Given the description of an element on the screen output the (x, y) to click on. 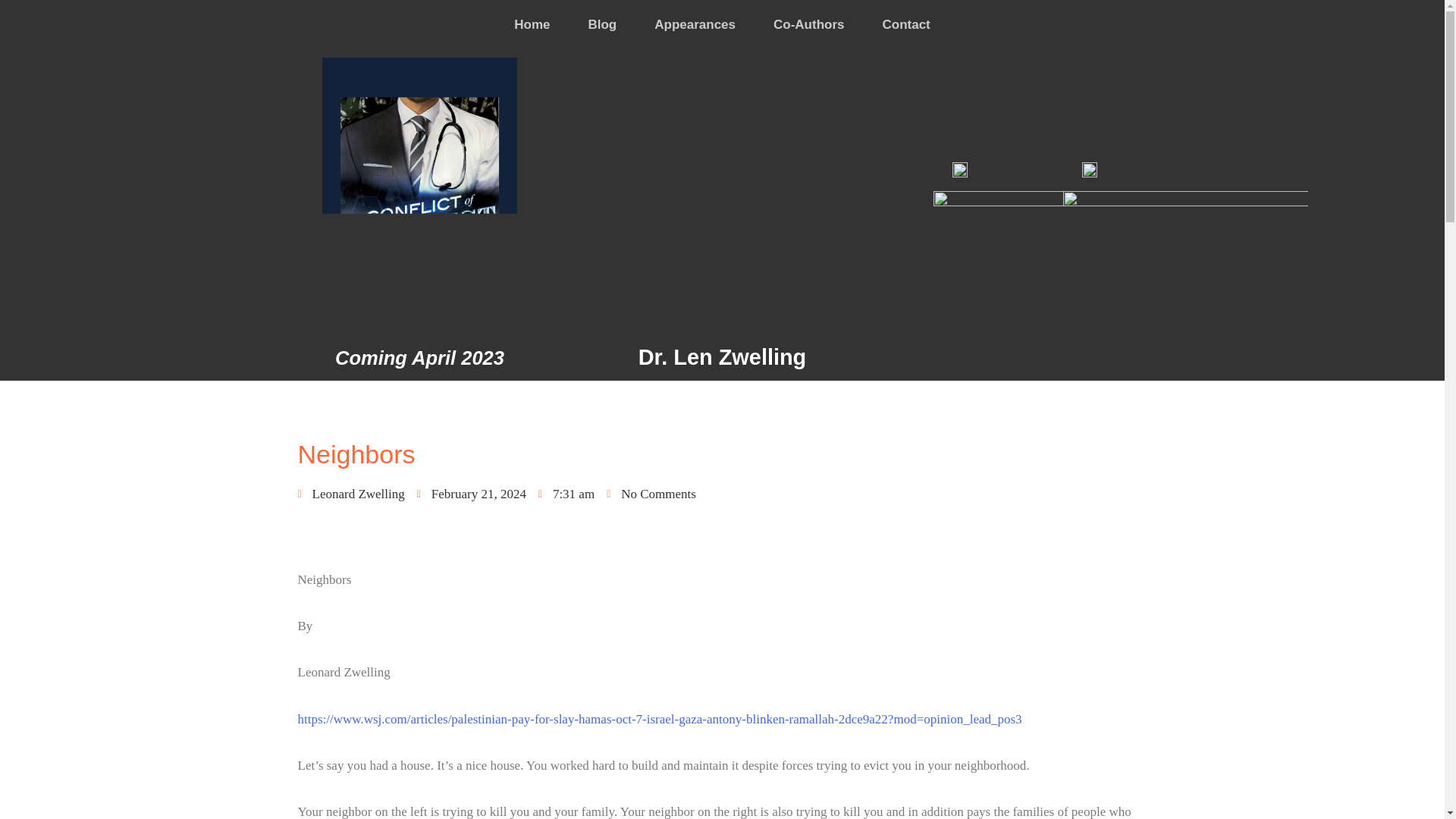
Home (531, 24)
Contact (905, 24)
Dr. Len Zwelling (722, 356)
Blog (601, 24)
Appearances (695, 24)
February 21, 2024 (470, 494)
Co-Authors (808, 24)
No Comments (651, 494)
Leonard Zwelling (350, 494)
